Given the description of an element on the screen output the (x, y) to click on. 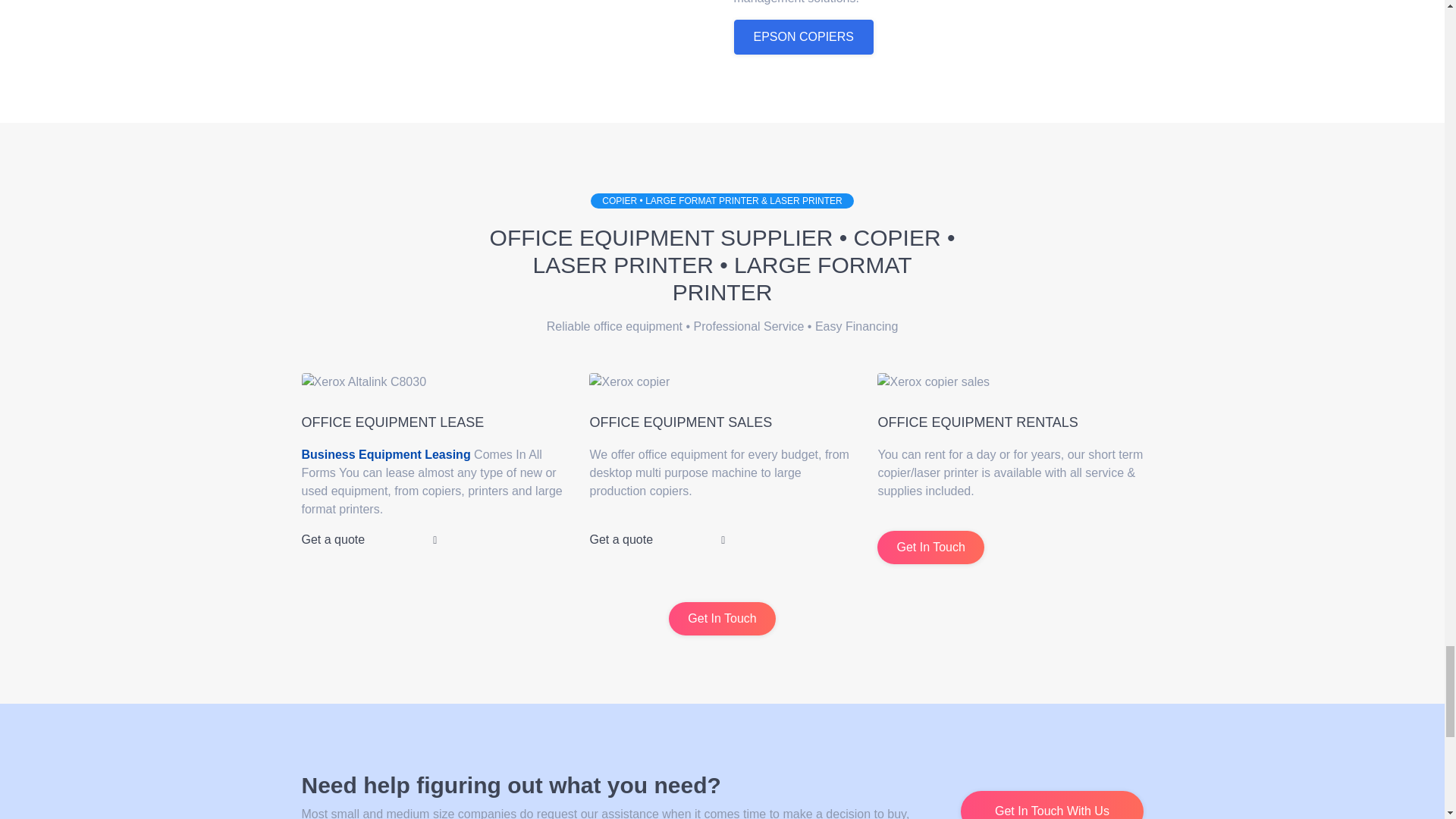
Get In Touch With Us (1051, 805)
Get In Touch (930, 547)
Get a quote                  (369, 539)
Get a quote                  (657, 539)
EPSON COPIERS (803, 36)
Get In Touch (721, 618)
